Given the description of an element on the screen output the (x, y) to click on. 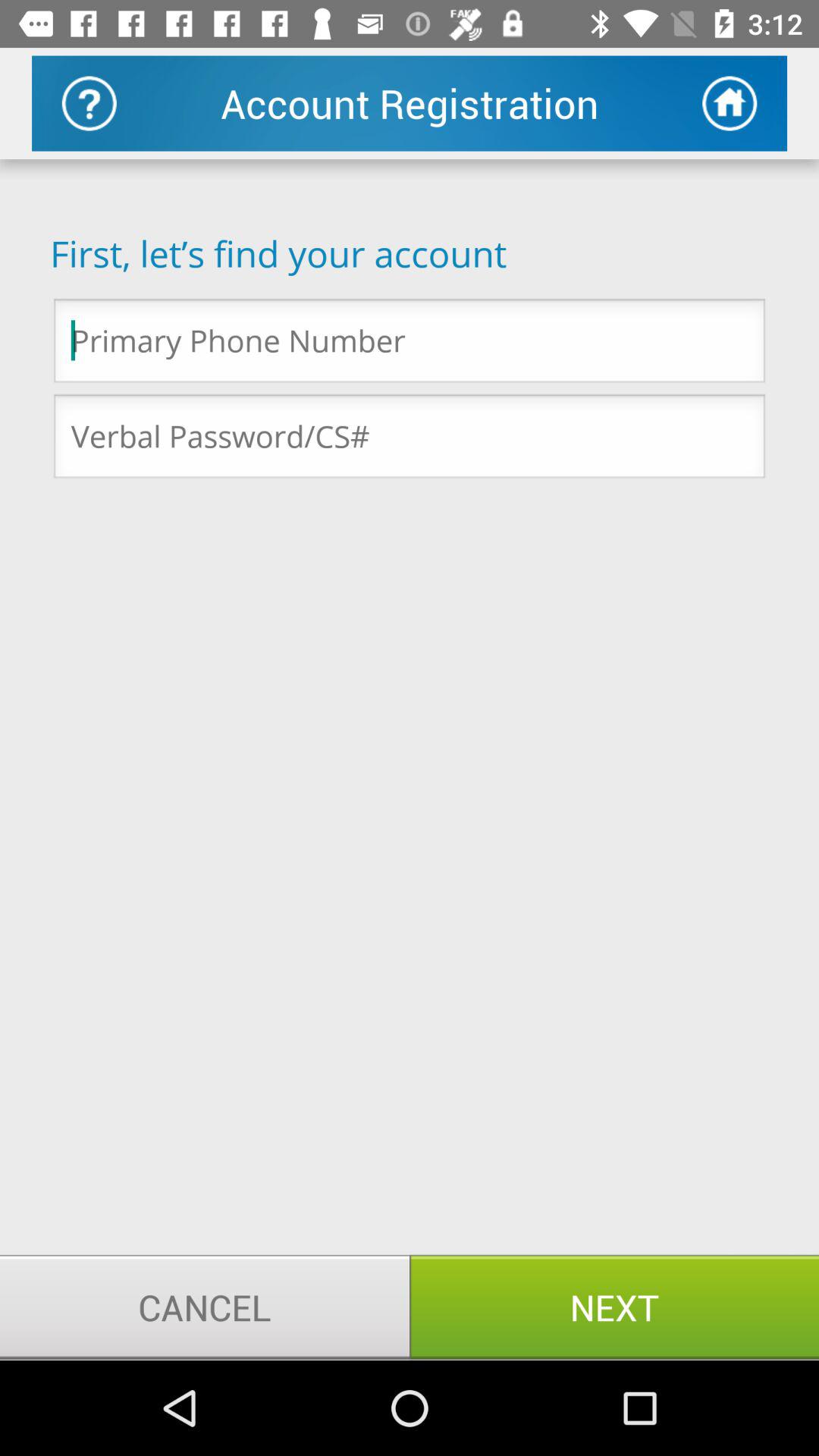
turn on cancel icon (204, 1307)
